Given the description of an element on the screen output the (x, y) to click on. 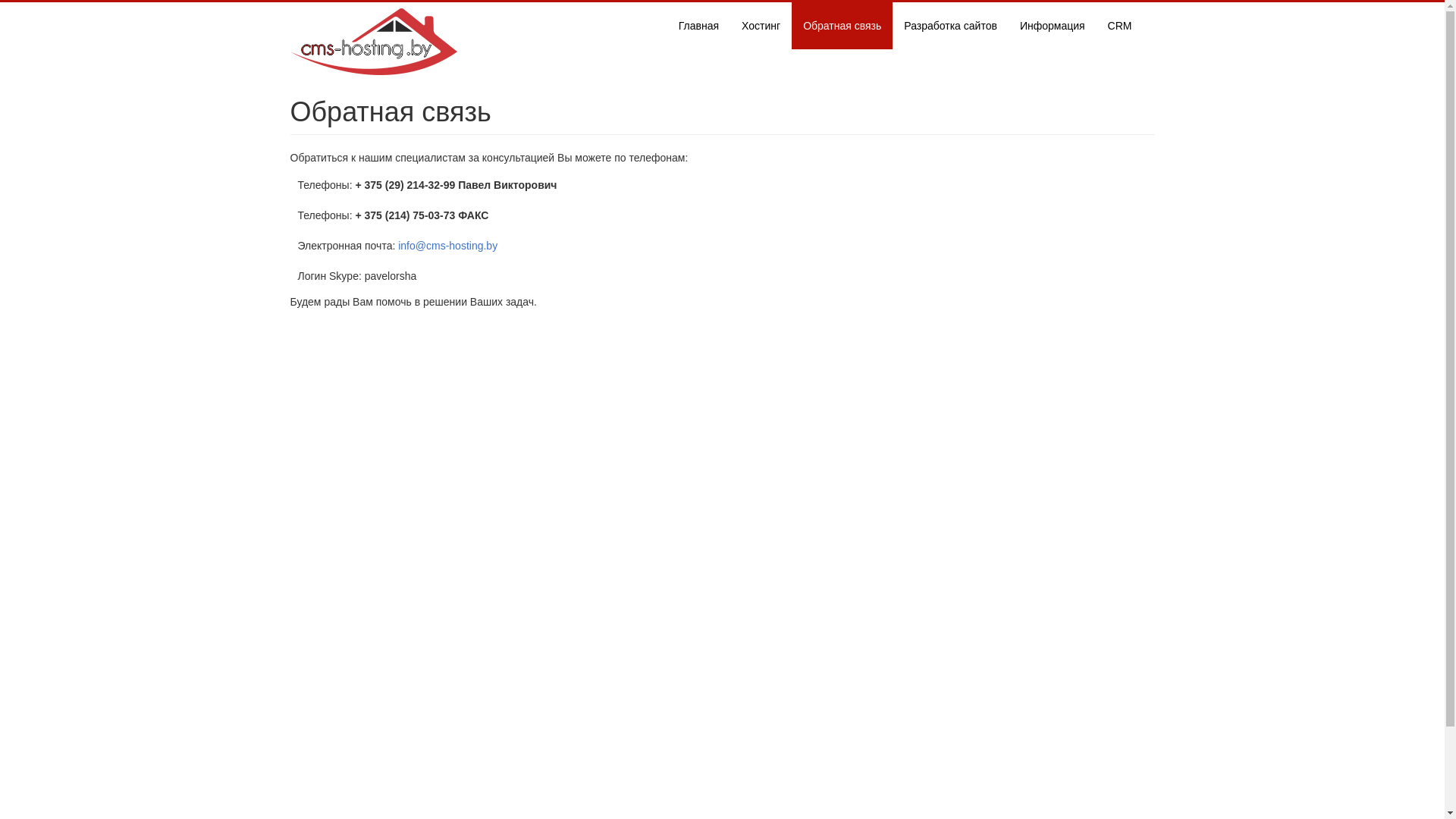
CRM Element type: text (1119, 25)
info@cms-hosting.by Element type: text (447, 245)
